Given the description of an element on the screen output the (x, y) to click on. 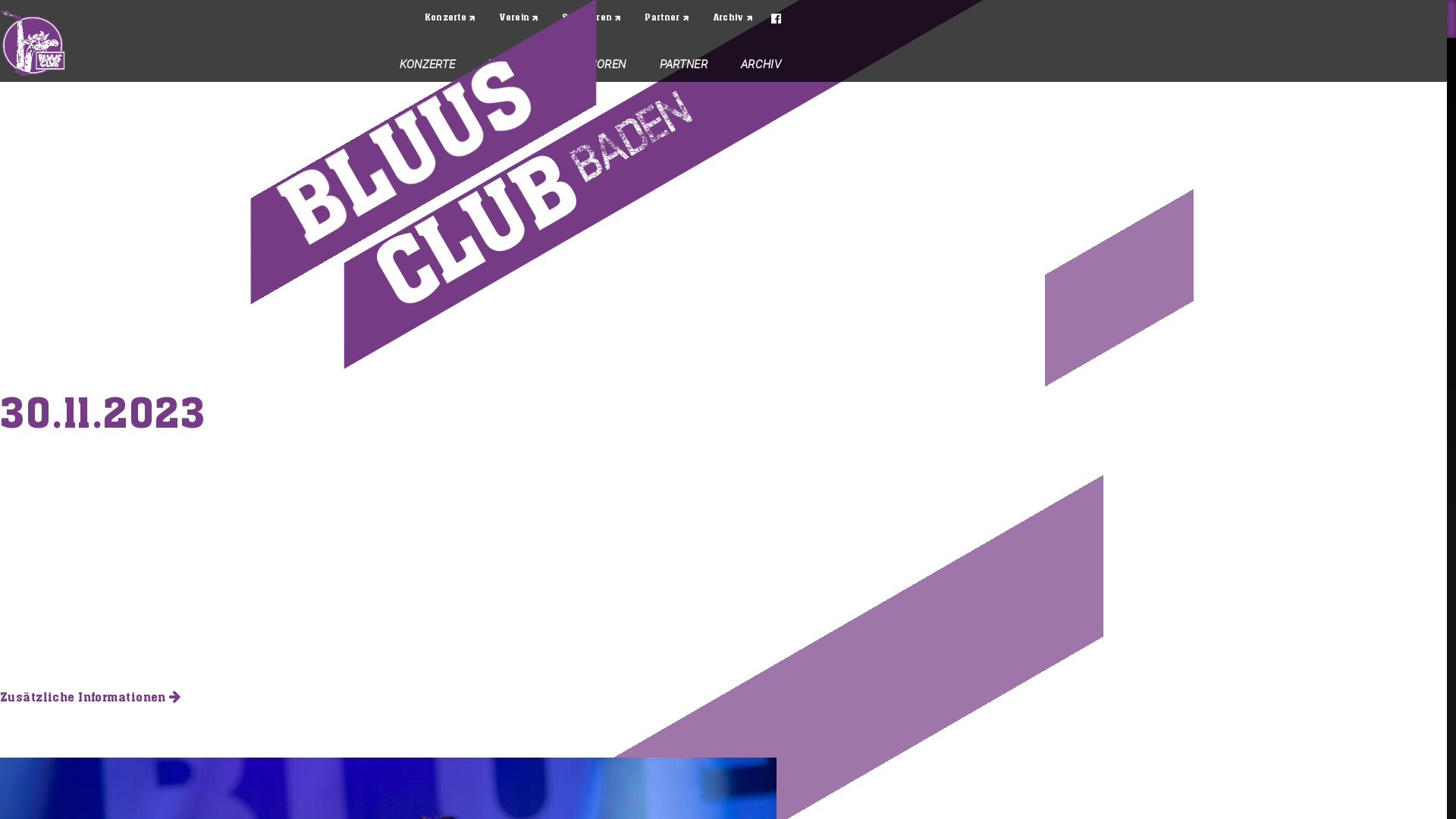
Verein Element type: text (518, 17)
VEREIN Element type: text (507, 64)
Sponsoren Element type: text (591, 17)
Partner Element type: text (666, 17)
KONZERTE Element type: text (427, 64)
SPONSOREN Element type: text (592, 64)
PARTNER Element type: text (683, 64)
Konzerte Element type: text (450, 17)
ARCHIV Element type: text (760, 64)
Archiv Element type: text (732, 17)
BLUUS CLUB Baden Element type: text (33, 44)
